Given the description of an element on the screen output the (x, y) to click on. 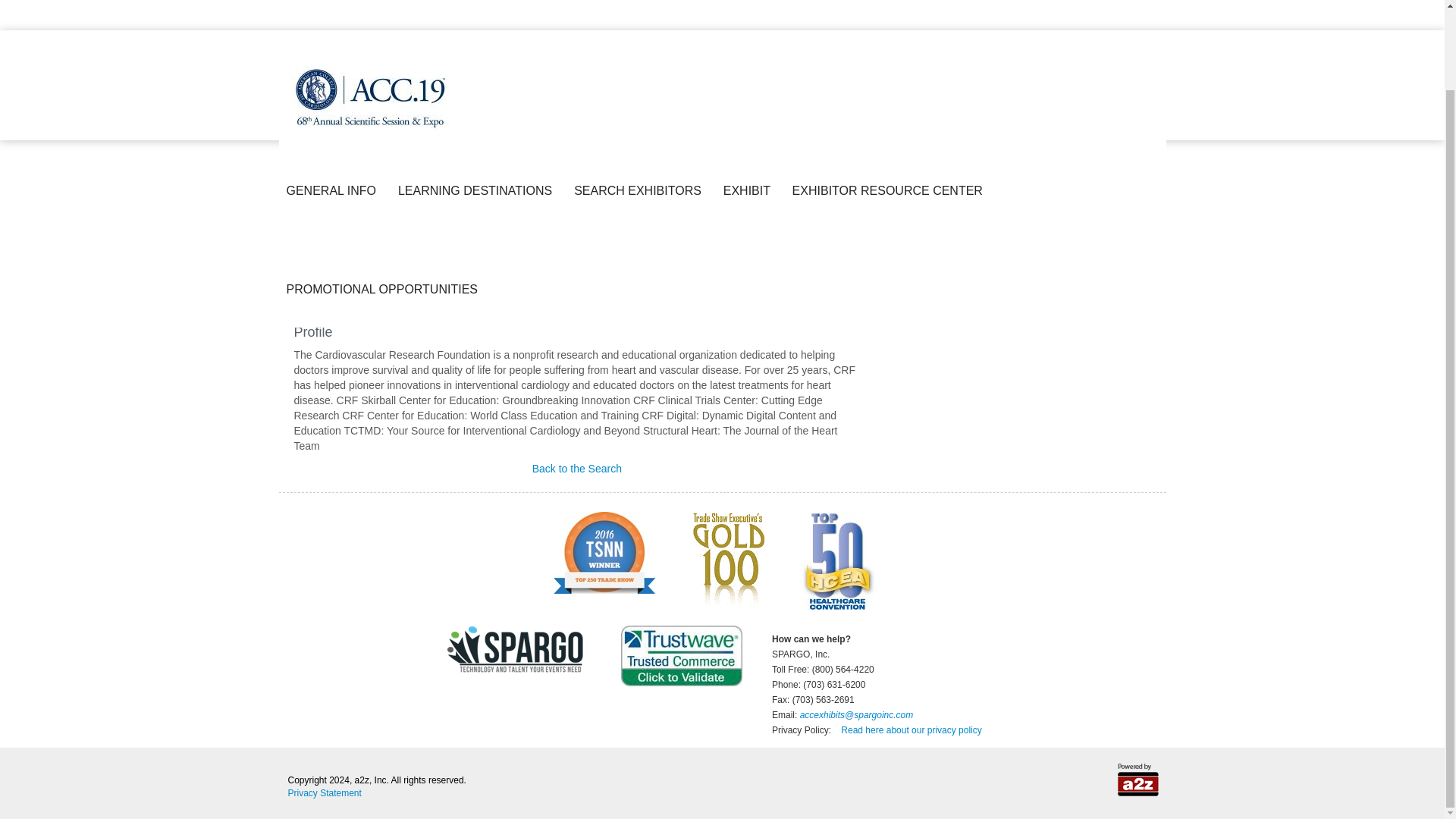
SEARCH EXHIBITORS   (641, 100)
Add To My Exhibitors (428, 309)
LEARNING DESTINATIONS   (478, 100)
Print (363, 309)
GENERAL INFO   (334, 100)
EXHIBITOR RESOURCE CENTER   (890, 100)
